Given the description of an element on the screen output the (x, y) to click on. 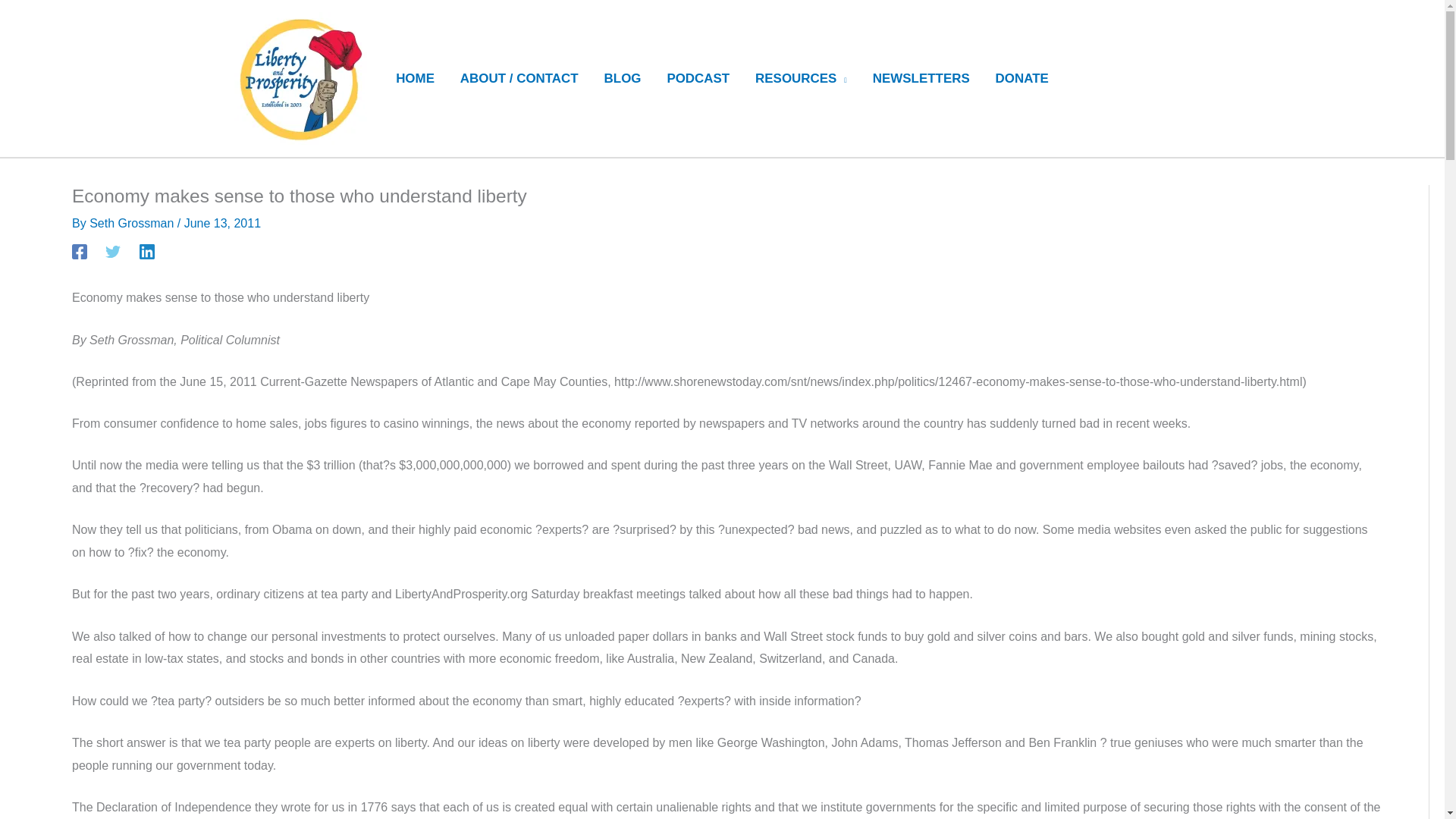
View all posts by Seth Grossman (132, 223)
BLOG (622, 78)
DONATE (1021, 78)
NEWSLETTERS (921, 78)
RESOURCES (801, 78)
Seth Grossman (132, 223)
PODCAST (697, 78)
HOME (414, 78)
